Given the description of an element on the screen output the (x, y) to click on. 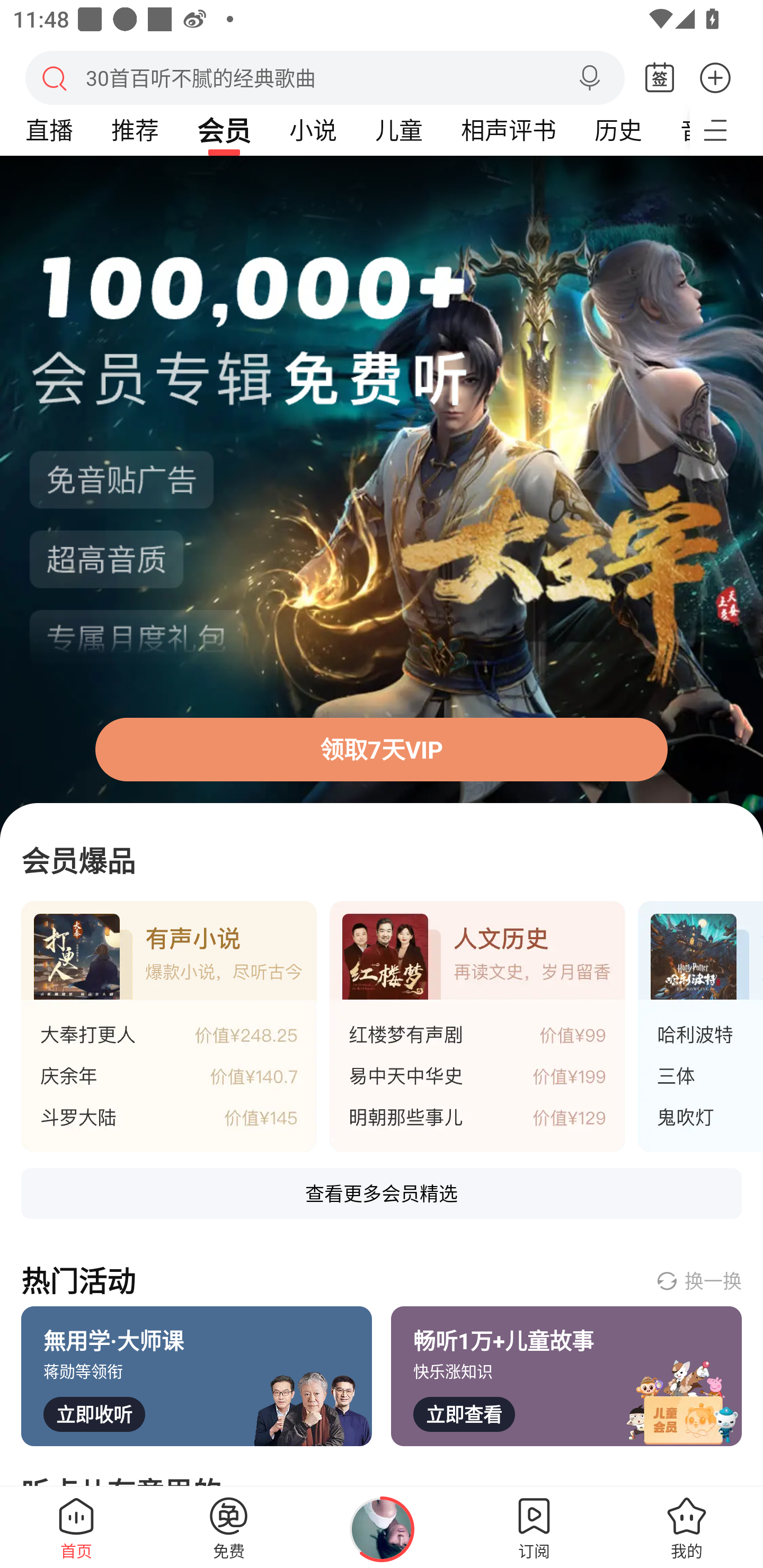
搜索 30首百听不腻的经典歌曲 语音搜索 (324, 77)
更多 (714, 77)
签到 (659, 78)
语音搜索 (589, 78)
直播 (49, 130)
推荐 (134, 130)
会员 (223, 130)
小说 (313, 130)
儿童 (398, 130)
相声评书 (508, 130)
历史 (618, 130)
更多频道 (726, 130)
领取7天VIP (381, 749)
查看更多会员精选 (381, 1193)
换一换 (698, 1279)
無用学·大师课 蒋勋等领衔 立即收听 (196, 1375)
畅听1万+儿童故事 快乐涨知识 立即查看 (565, 1375)
首页 (76, 1526)
免费 (228, 1526)
订阅 (533, 1526)
我的 (686, 1526)
正在播放Alpha-橘子海OrangeOcean，点击后打开播放页 (381, 1529)
